Given the description of an element on the screen output the (x, y) to click on. 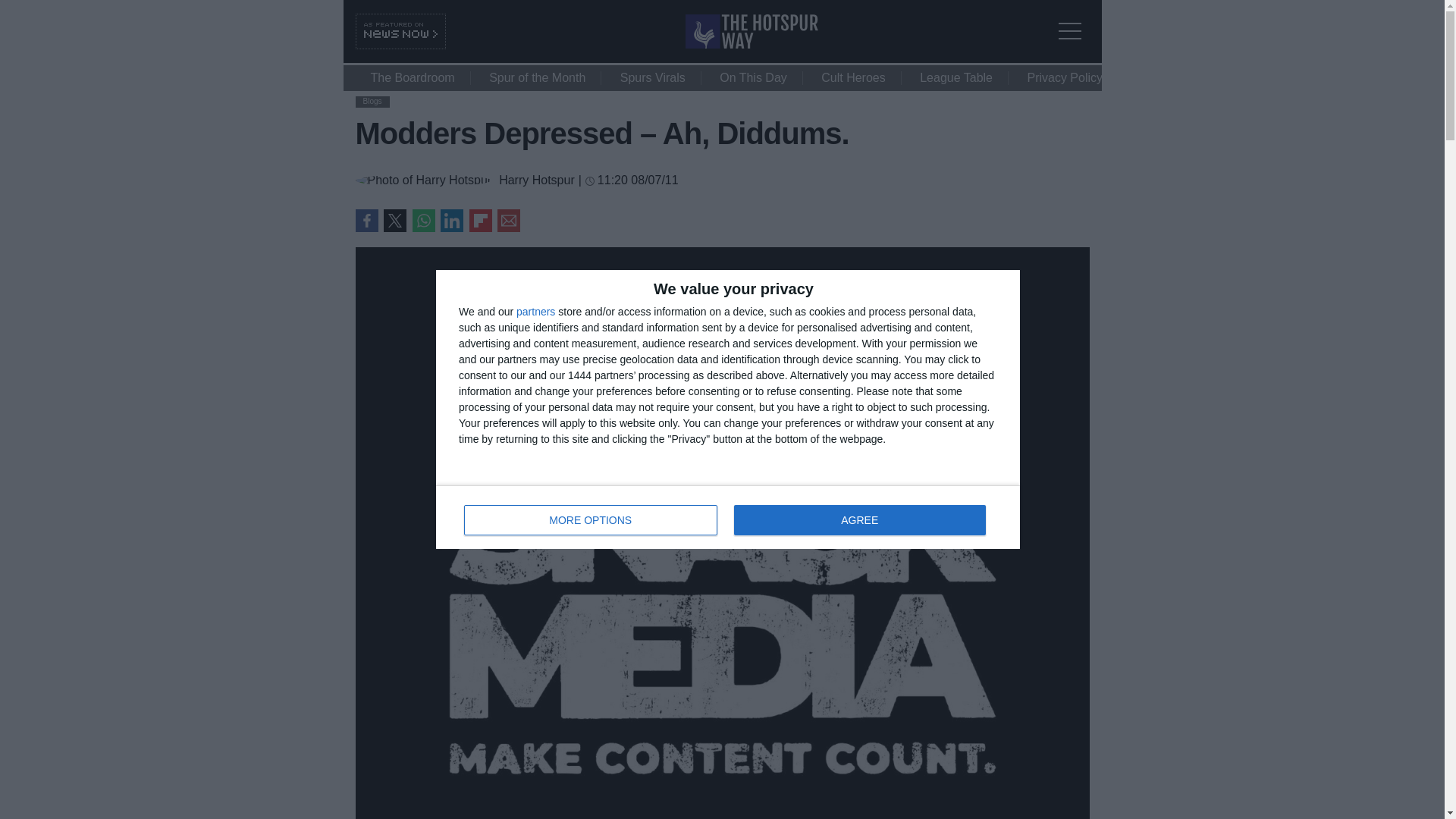
Spur of the Month (536, 78)
On This Day (753, 78)
Back to the homepage (751, 43)
MORE OPTIONS (590, 520)
Cult Heroes (852, 78)
share on Facebook (366, 220)
Menu (1074, 21)
share on Email (508, 220)
share on WhatsApp (423, 220)
share on Flipboard (727, 516)
share on Twitter (480, 220)
share on LinkedIn (395, 220)
Privacy Policy (452, 220)
Blogs (1064, 78)
